Given the description of an element on the screen output the (x, y) to click on. 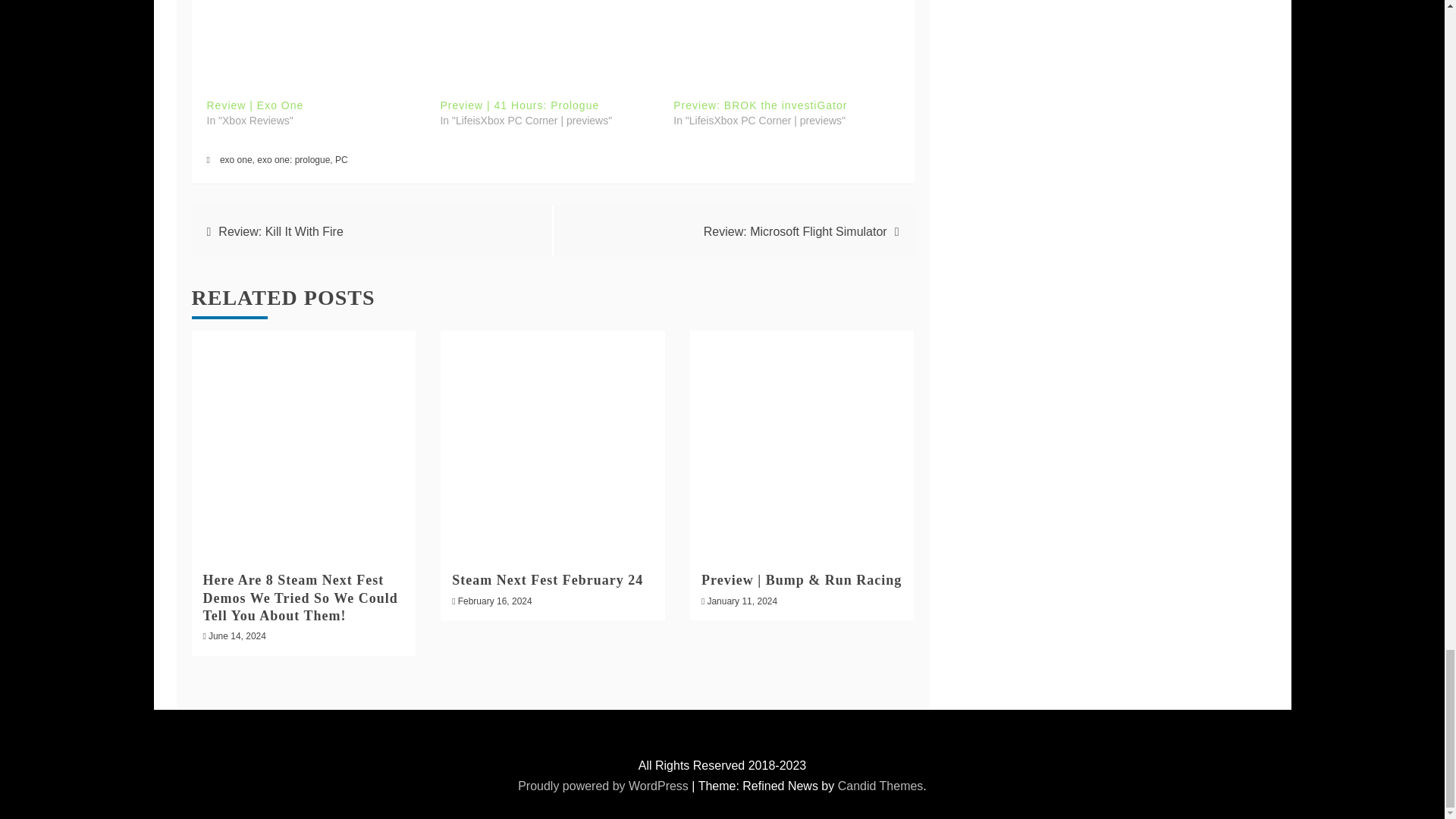
exo one: prologue (293, 159)
Preview: BROK the investiGator (781, 39)
PC (340, 159)
Review: Kill It With Fire (280, 231)
exo one (235, 159)
Preview: BROK the investiGator (759, 105)
Review: Microsoft Flight Simulator (794, 231)
Preview: BROK the investiGator (759, 105)
